Given the description of an element on the screen output the (x, y) to click on. 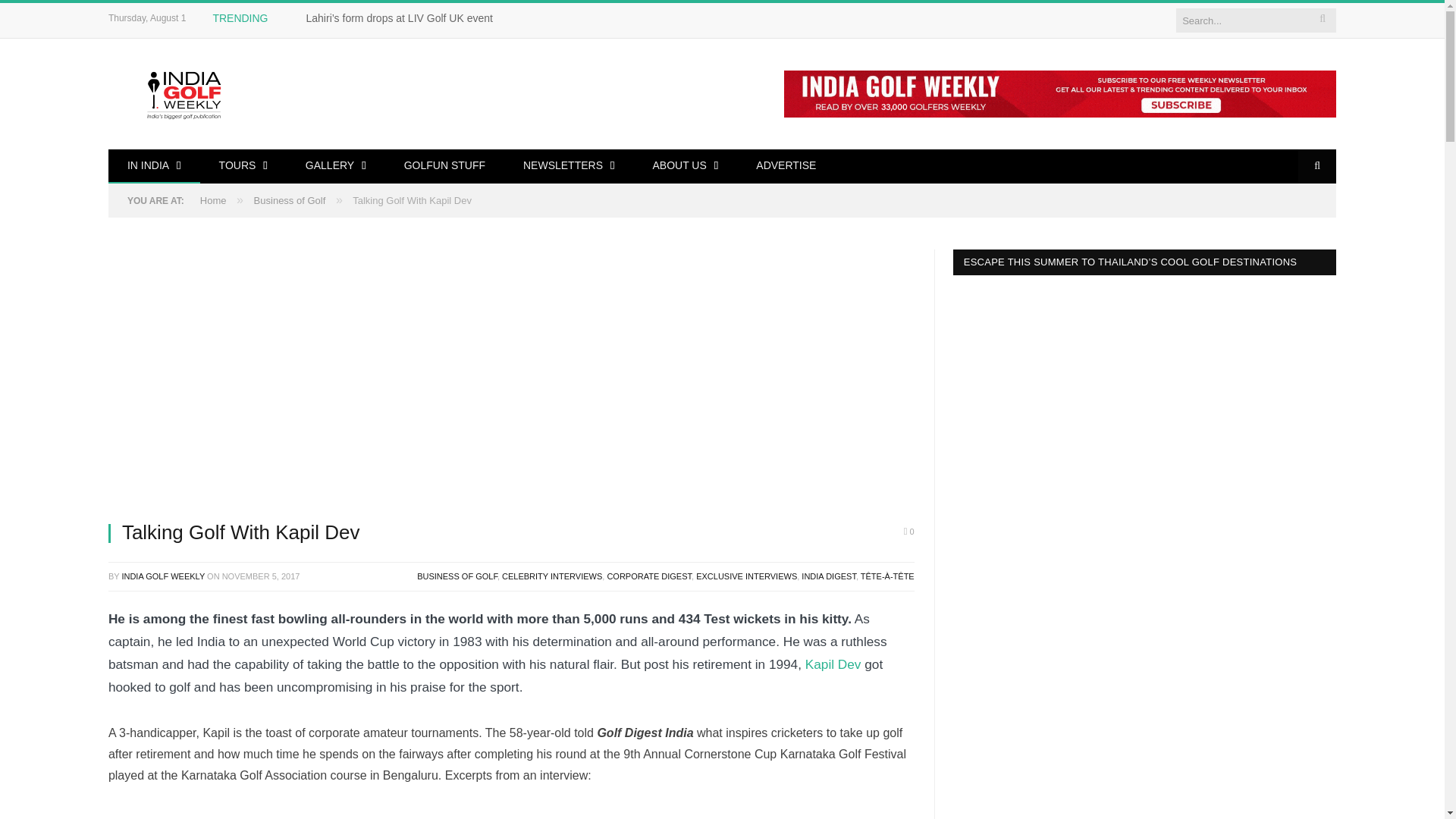
IN INDIA (153, 166)
GALLERY (335, 166)
Search (1317, 166)
TOURS (243, 166)
